Given the description of an element on the screen output the (x, y) to click on. 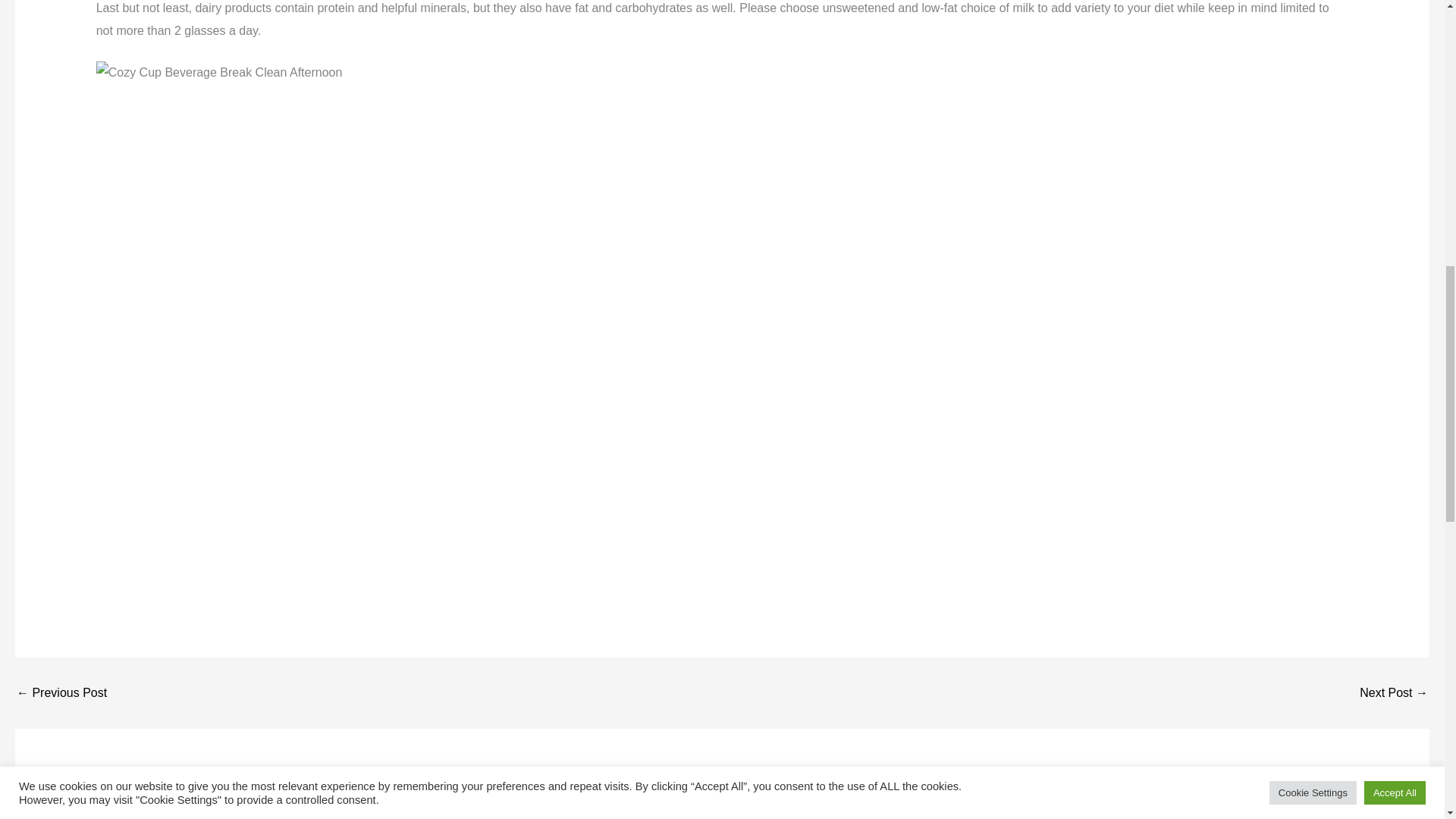
Jindapa Thummakriengkrai (61, 693)
Samutsakhon 1,212 Monks: Complimentary Chest X-ray Project (1393, 693)
